Given the description of an element on the screen output the (x, y) to click on. 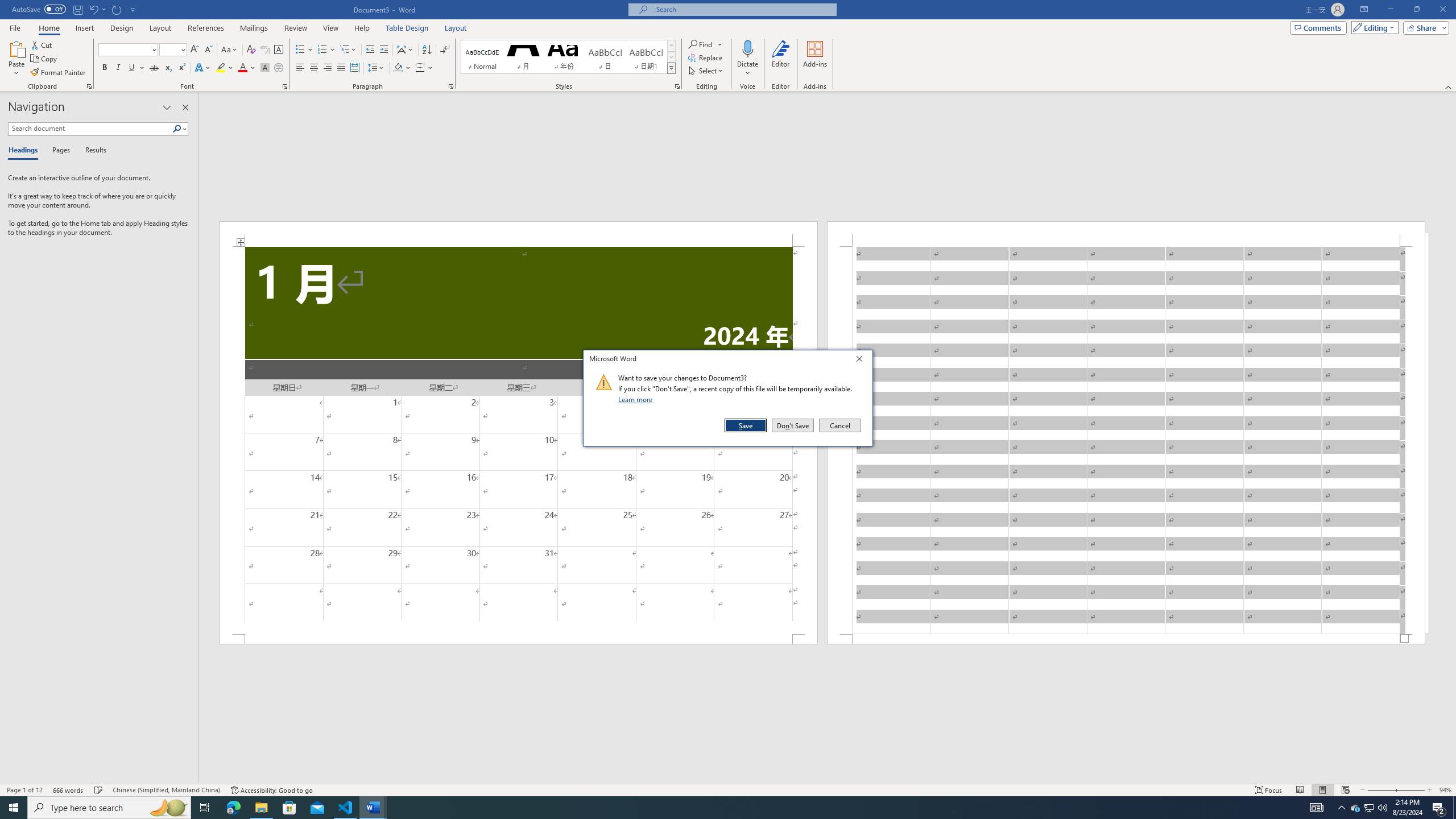
Customize Quick Access Toolbar (133, 9)
Start (13, 807)
Visual Studio Code - 1 running window (345, 807)
Decrease Indent (370, 49)
Home (48, 28)
Format Painter (58, 72)
Row Down (670, 56)
Shrink Font (208, 49)
Underline (136, 67)
Borders (419, 67)
Paste (1355, 807)
